Given the description of an element on the screen output the (x, y) to click on. 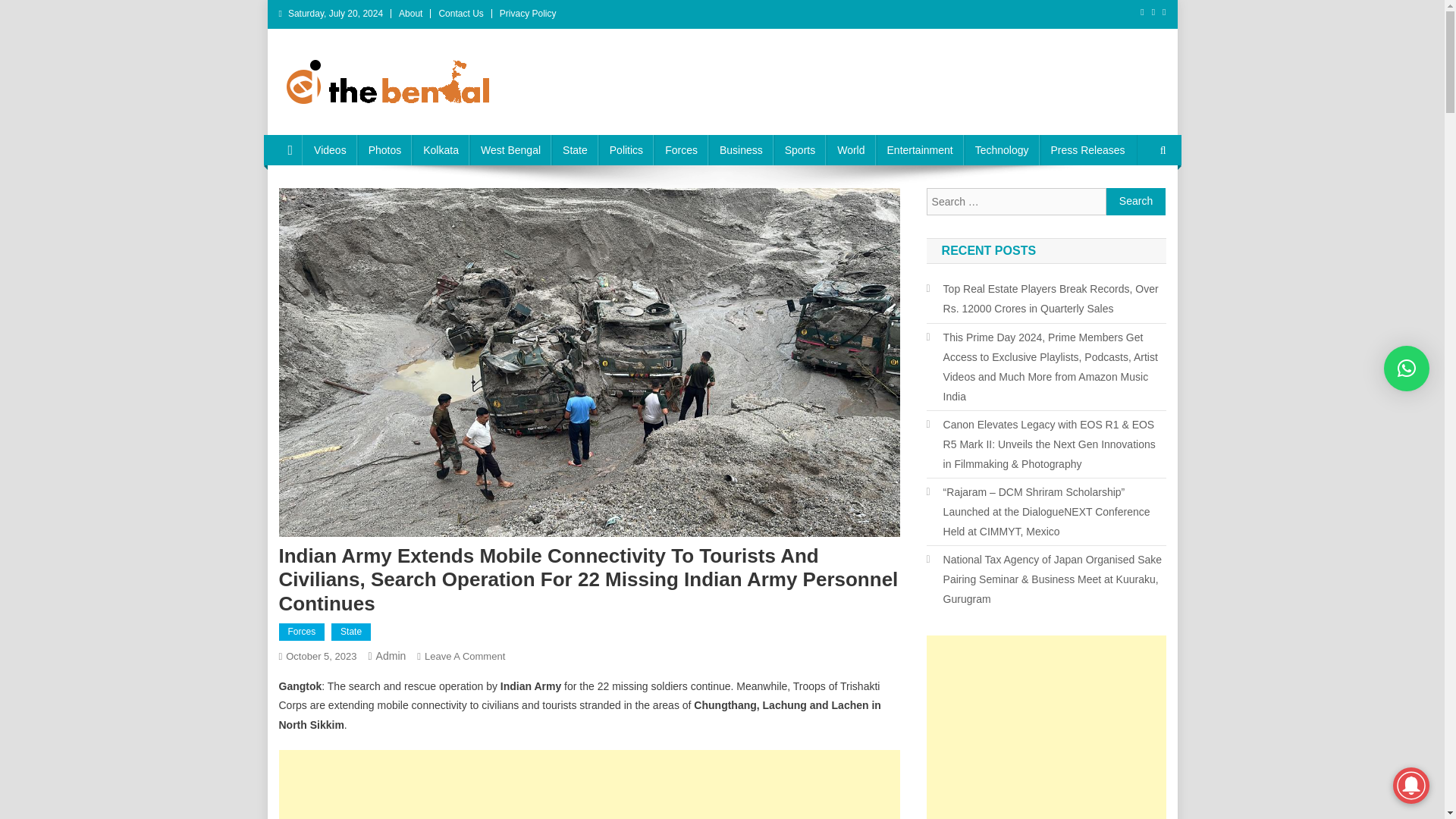
Entertainment (920, 150)
Forces (301, 632)
Videos (329, 150)
Press Releases (1088, 150)
Search (1136, 201)
Advertisement (589, 784)
Business (740, 150)
Admin (390, 655)
Forces (681, 150)
State (574, 150)
Advertisement (1046, 727)
State (351, 632)
Search (1136, 201)
Technology (1001, 150)
October 5, 2023 (320, 655)
